Given the description of an element on the screen output the (x, y) to click on. 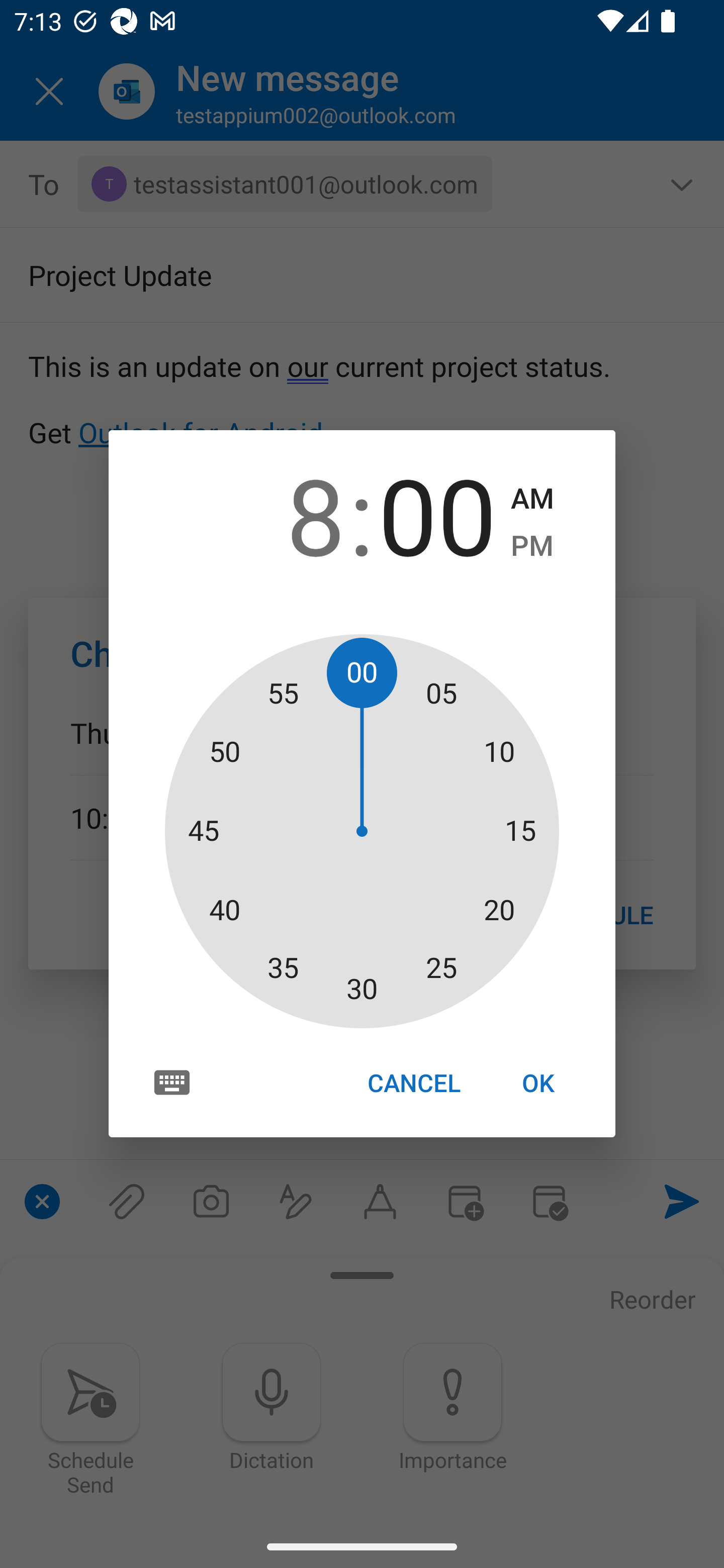
8 (285, 513)
00 (436, 513)
AM (532, 498)
PM (532, 546)
CANCEL (413, 1082)
OK (537, 1082)
Switch to text input mode for the time input. (171, 1081)
